Given the description of an element on the screen output the (x, y) to click on. 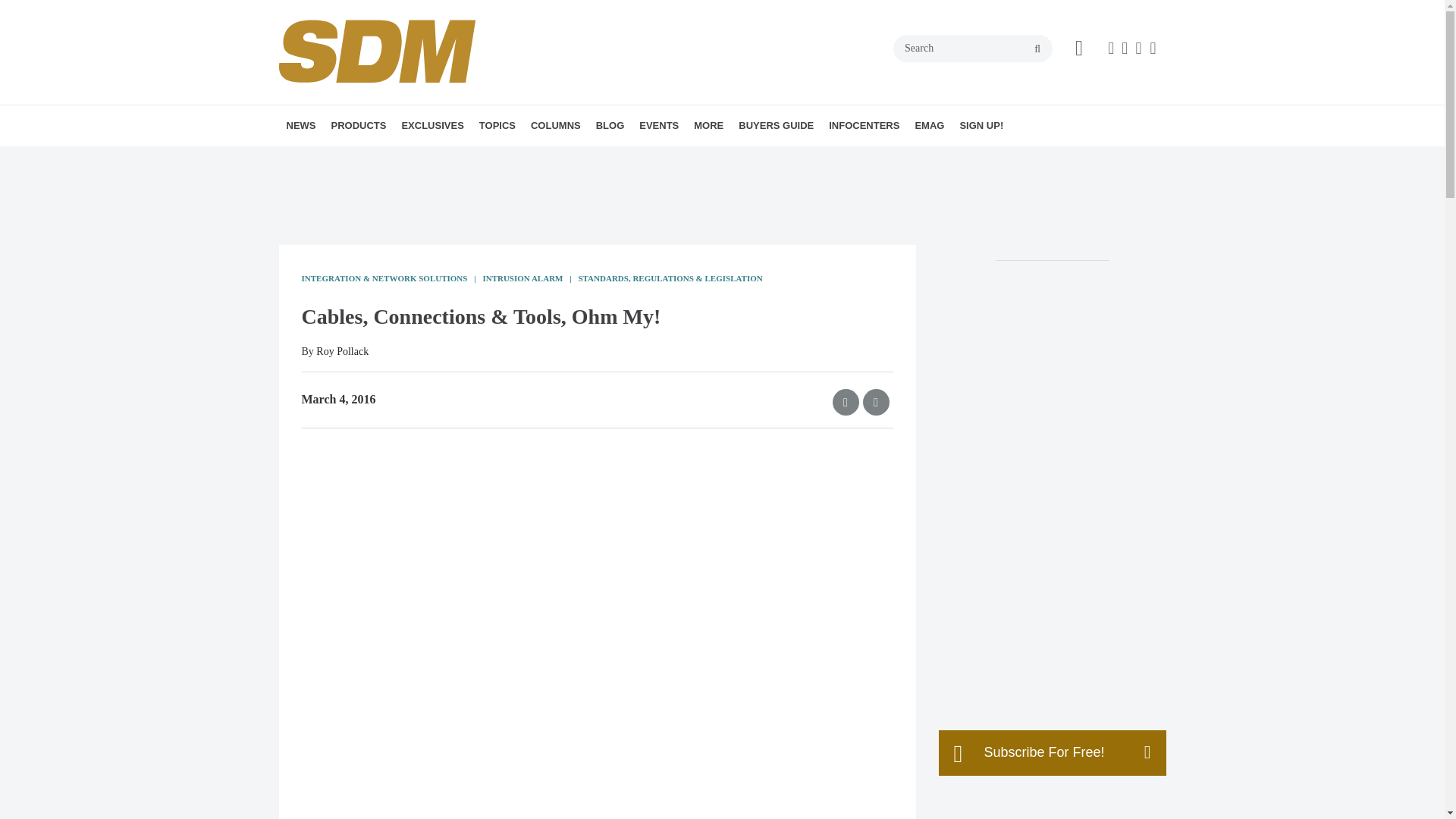
SMART HOME (595, 158)
ANNUAL INDUSTRY FORECAST (488, 158)
INTEGRATION SPOTLIGHT (636, 158)
MARKETING MADMEN (641, 158)
Search (972, 48)
search (1037, 49)
STATE OF THE MARKET SERIES (512, 158)
NEWS (301, 125)
DEALER OF THE YEAR (496, 158)
PRODUCTS (358, 125)
